Given the description of an element on the screen output the (x, y) to click on. 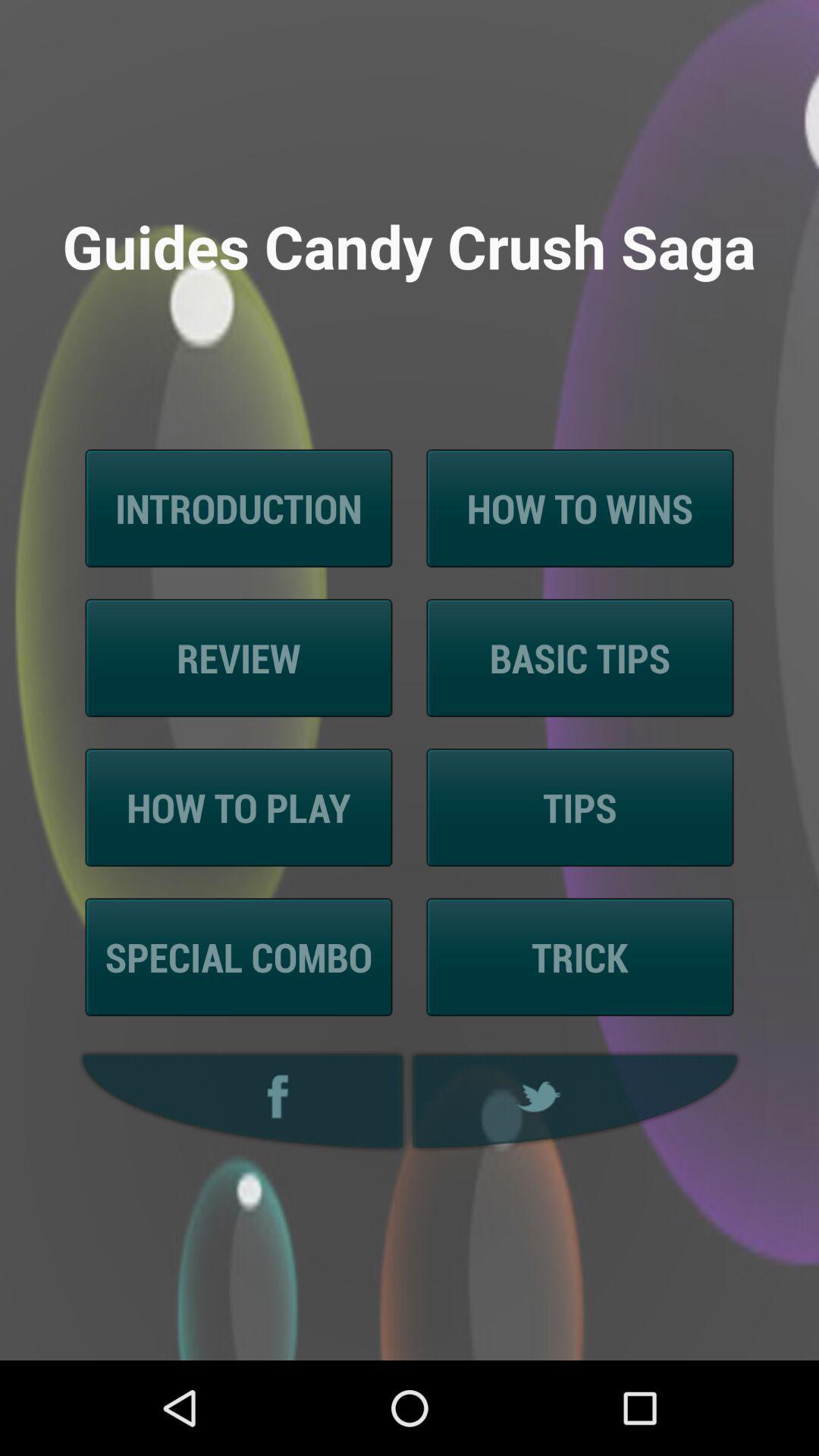
facebook icon (238, 1101)
